Given the description of an element on the screen output the (x, y) to click on. 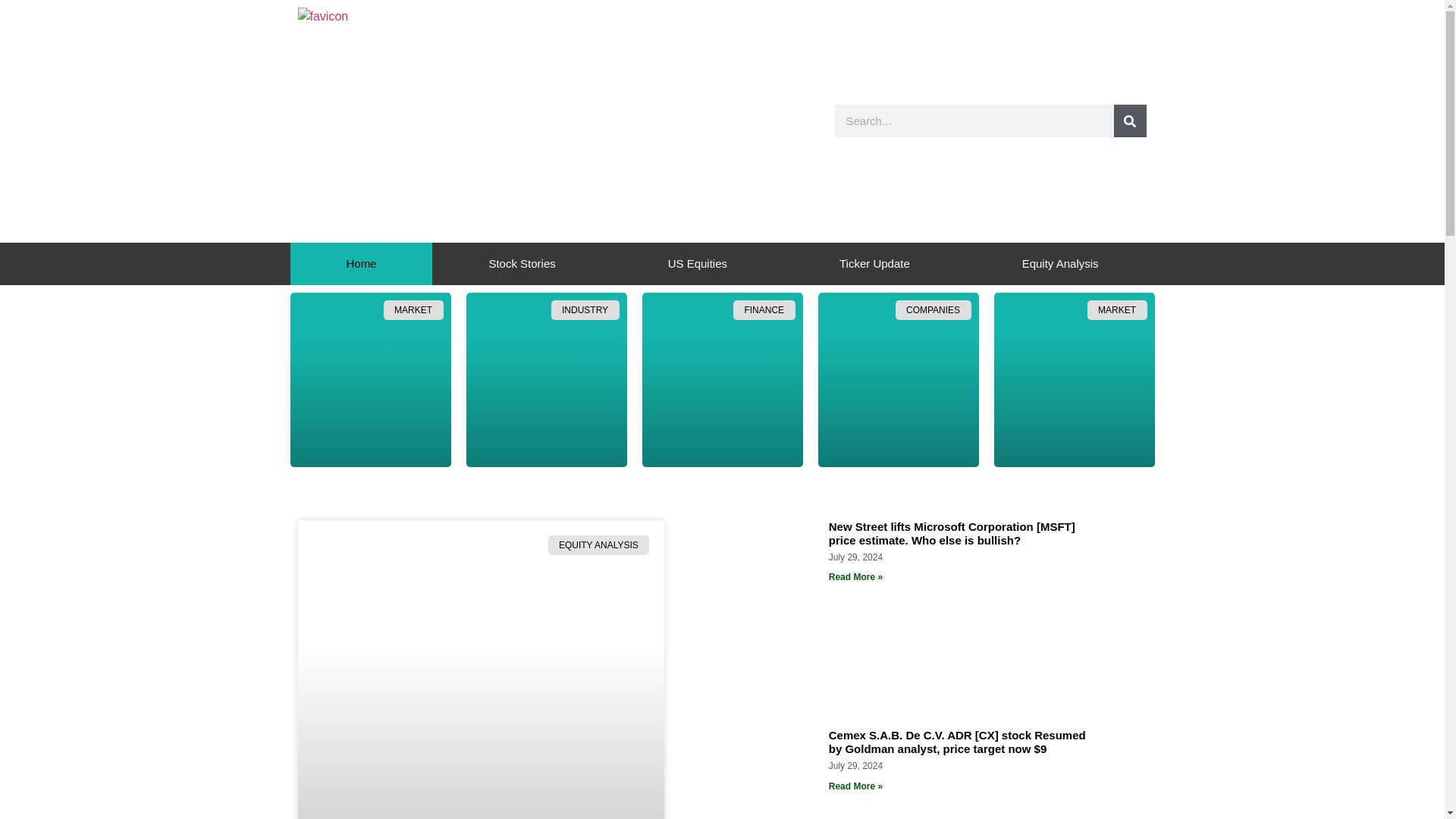
US Equities (697, 263)
Ticker Update (874, 263)
Home (360, 263)
Equity Analysis (1060, 263)
Stock Stories (521, 263)
